Given the description of an element on the screen output the (x, y) to click on. 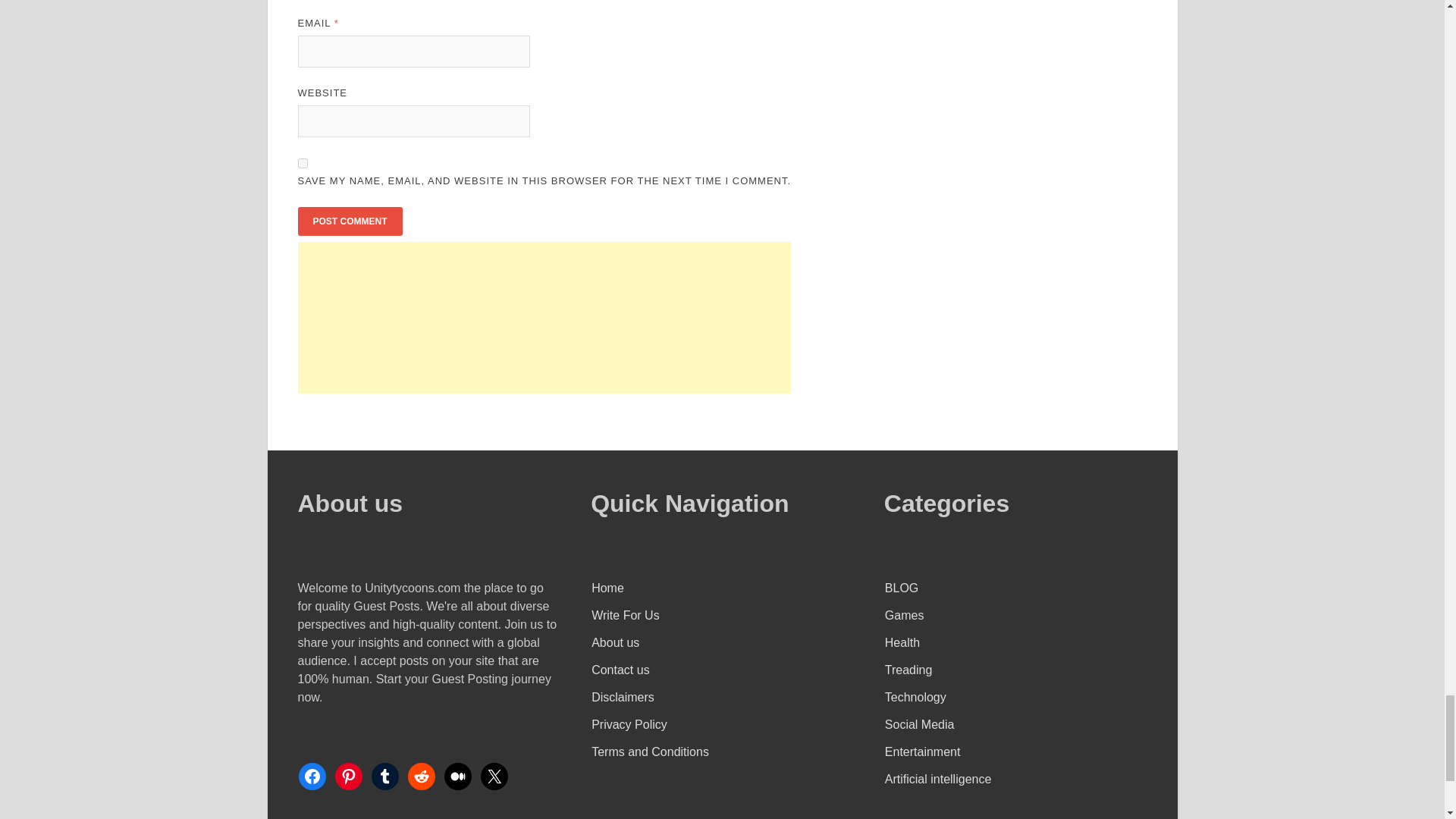
Post Comment (349, 221)
Post Comment (349, 221)
yes (302, 163)
